Given the description of an element on the screen output the (x, y) to click on. 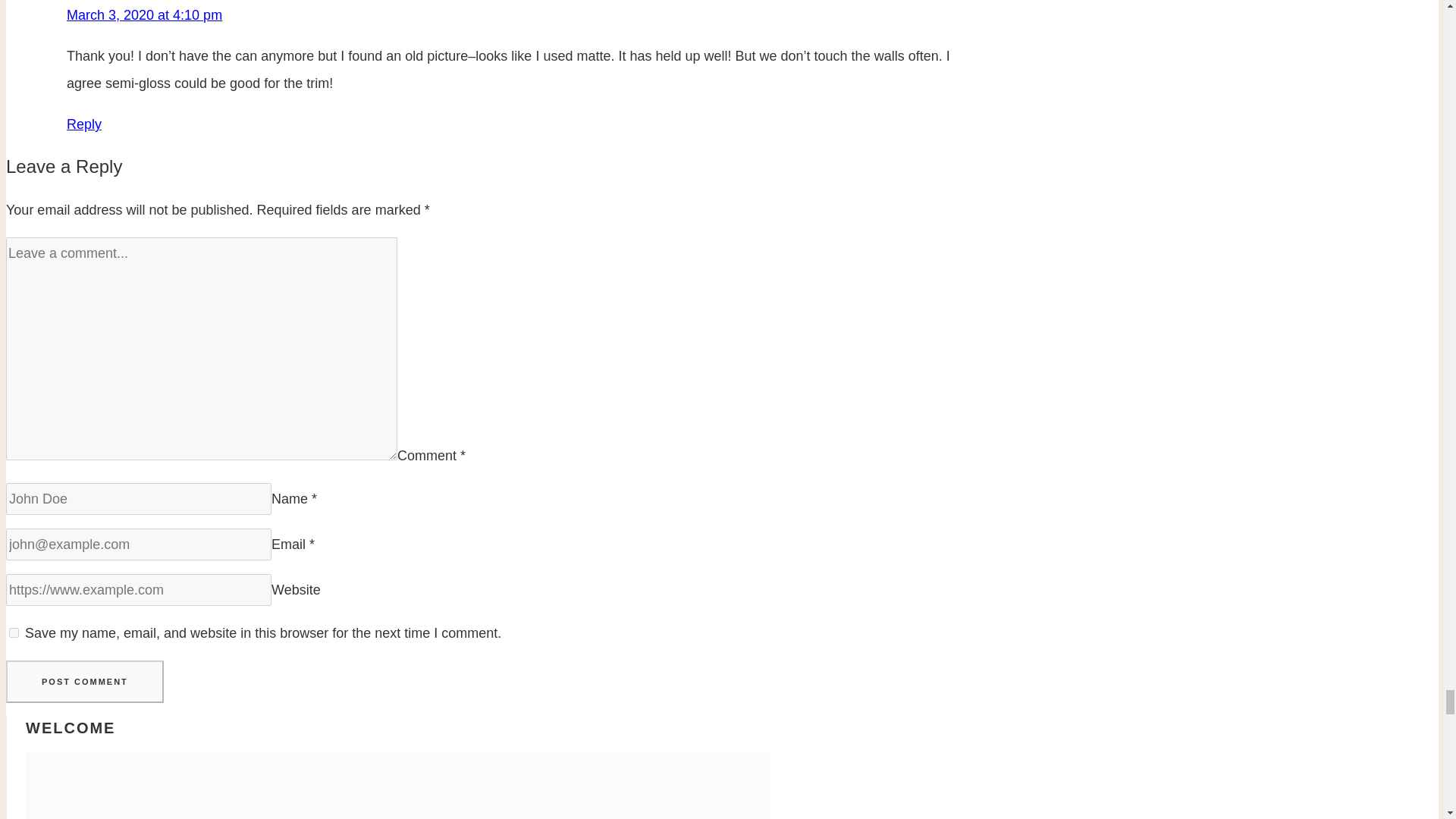
Post Comment (84, 681)
yes (13, 633)
